Given the description of an element on the screen output the (x, y) to click on. 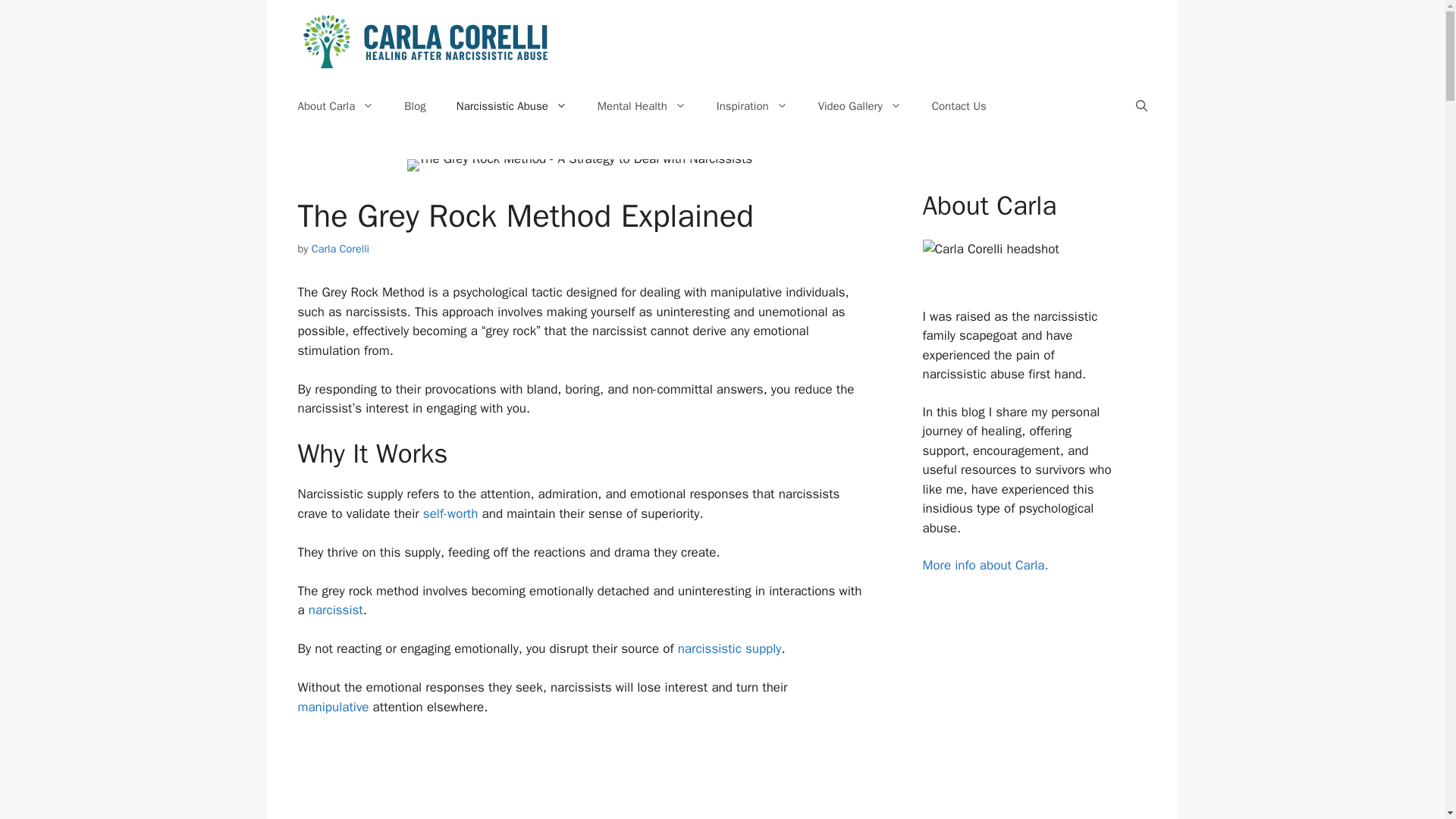
Blog (414, 105)
Video Gallery (860, 105)
Contact Us (959, 105)
About Carla (335, 105)
Mental Health (641, 105)
narcissist (335, 609)
Narcissistic Abuse (511, 105)
Inspiration (752, 105)
View all posts by Carla Corelli (340, 248)
Carla Corelli (340, 248)
